Given the description of an element on the screen output the (x, y) to click on. 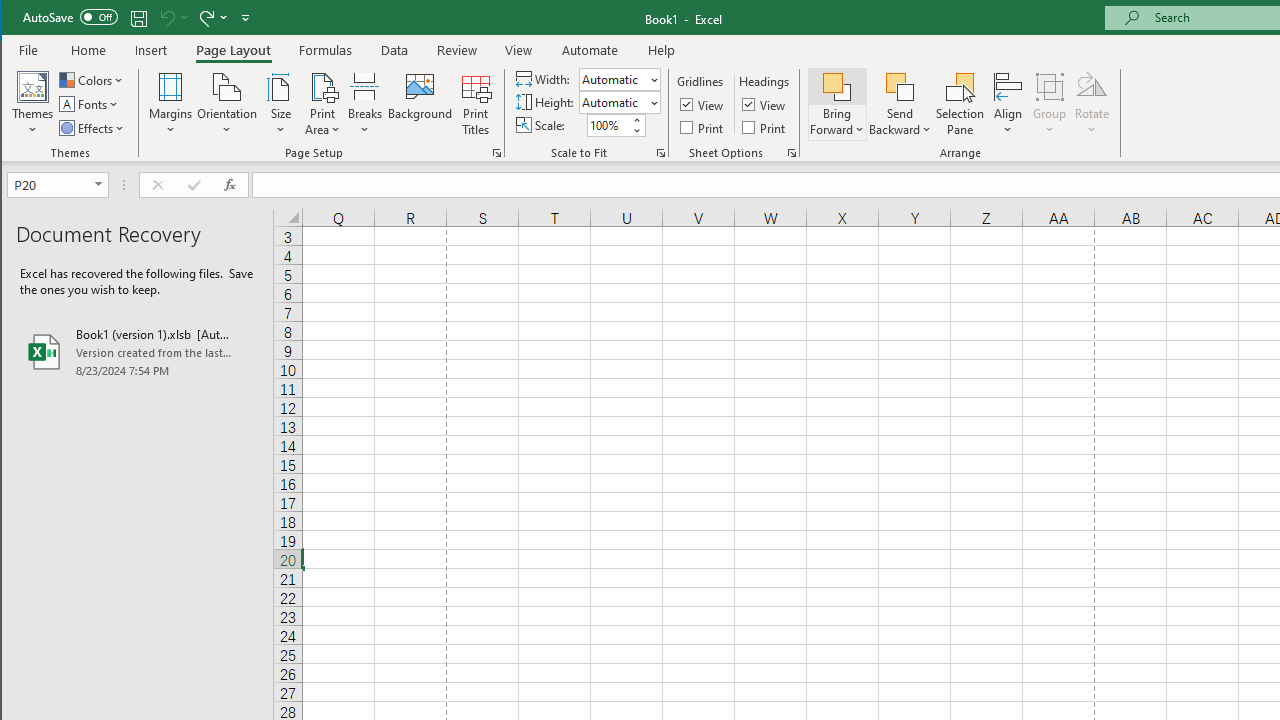
Width (619, 78)
Print Area (323, 104)
Page Setup (660, 152)
AutoSave (70, 16)
Size (280, 104)
Send Backward (900, 86)
Scale (607, 125)
Selection Pane... (960, 104)
